Given the description of an element on the screen output the (x, y) to click on. 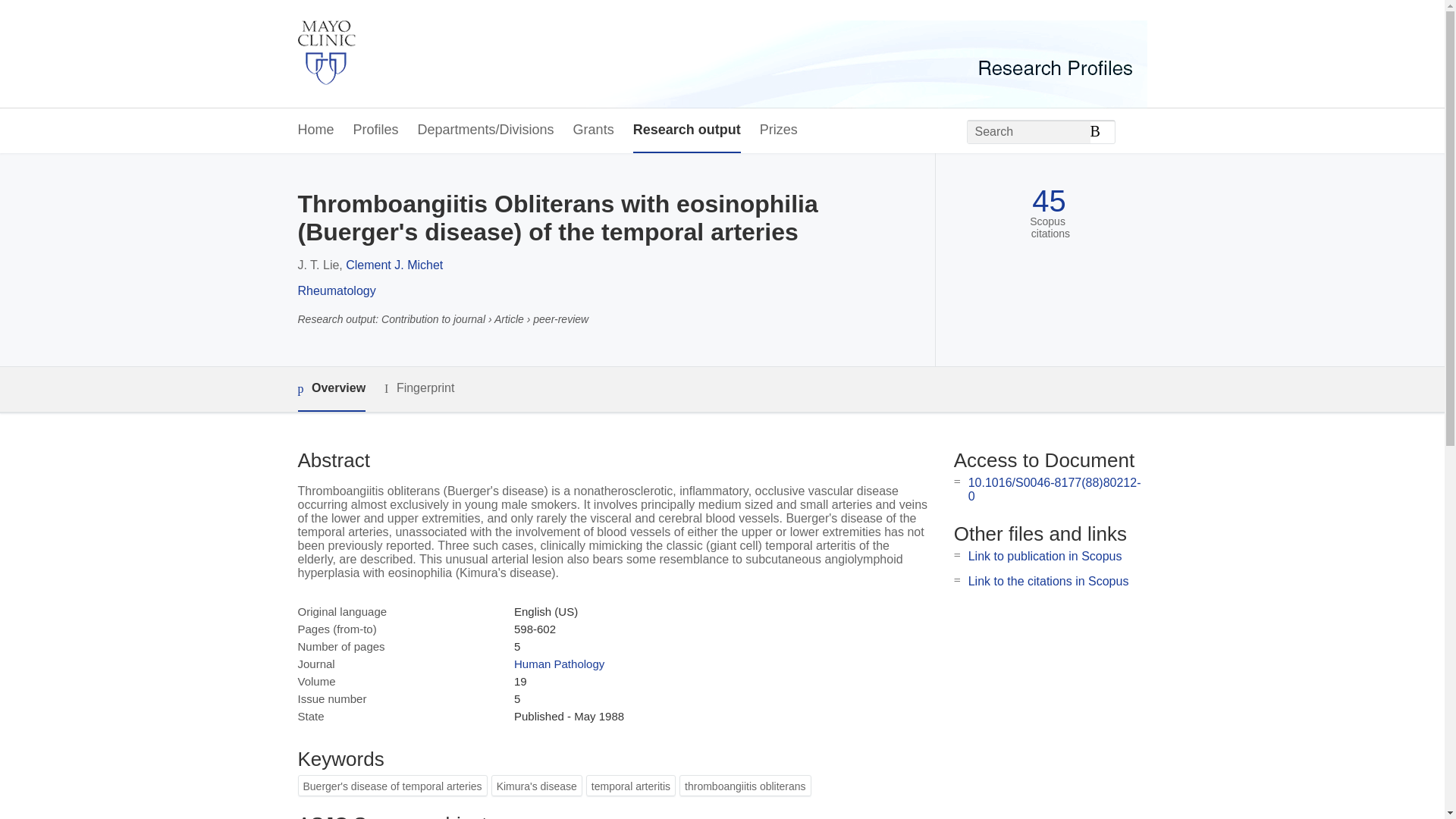
Link to the citations in Scopus (1048, 581)
Overview (331, 388)
Link to publication in Scopus (1045, 555)
Grants (593, 130)
Fingerprint (419, 388)
Research output (687, 130)
Profiles (375, 130)
Human Pathology (558, 663)
Clement J. Michet (394, 264)
45 (1048, 201)
Rheumatology (336, 290)
